Given the description of an element on the screen output the (x, y) to click on. 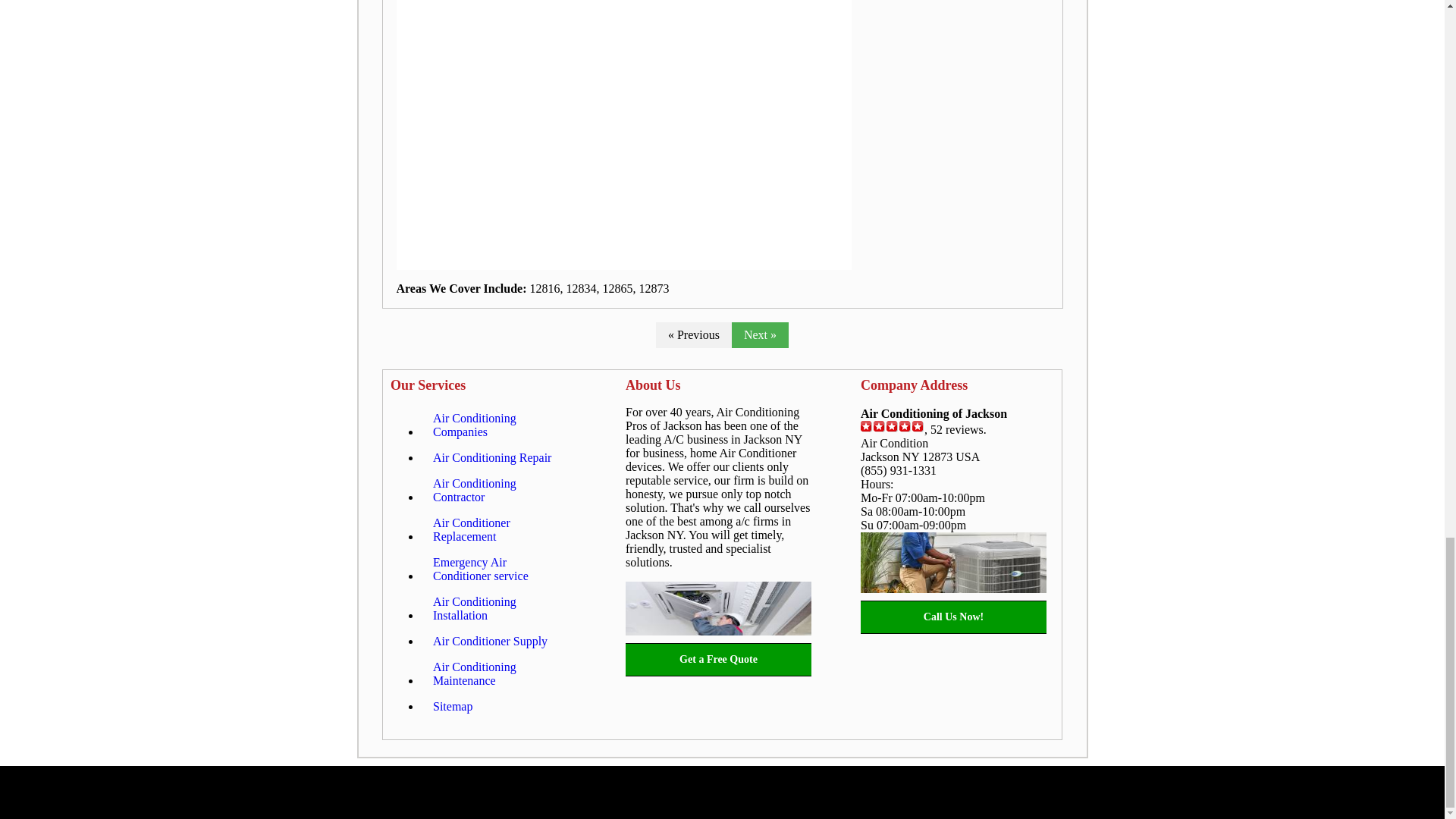
Air Conditioner Replacement (498, 529)
Sitemap (452, 706)
Call Us Now! (953, 617)
Air Conditioning Companies (498, 425)
Air Conditioning Repair (491, 457)
Air Conditioning Installation (498, 608)
Get a Free Quote (718, 659)
Air Conditioner Supply (489, 641)
Air Conditioning Contractor (498, 490)
Air Conditioning Maintenance (498, 673)
